Given the description of an element on the screen output the (x, y) to click on. 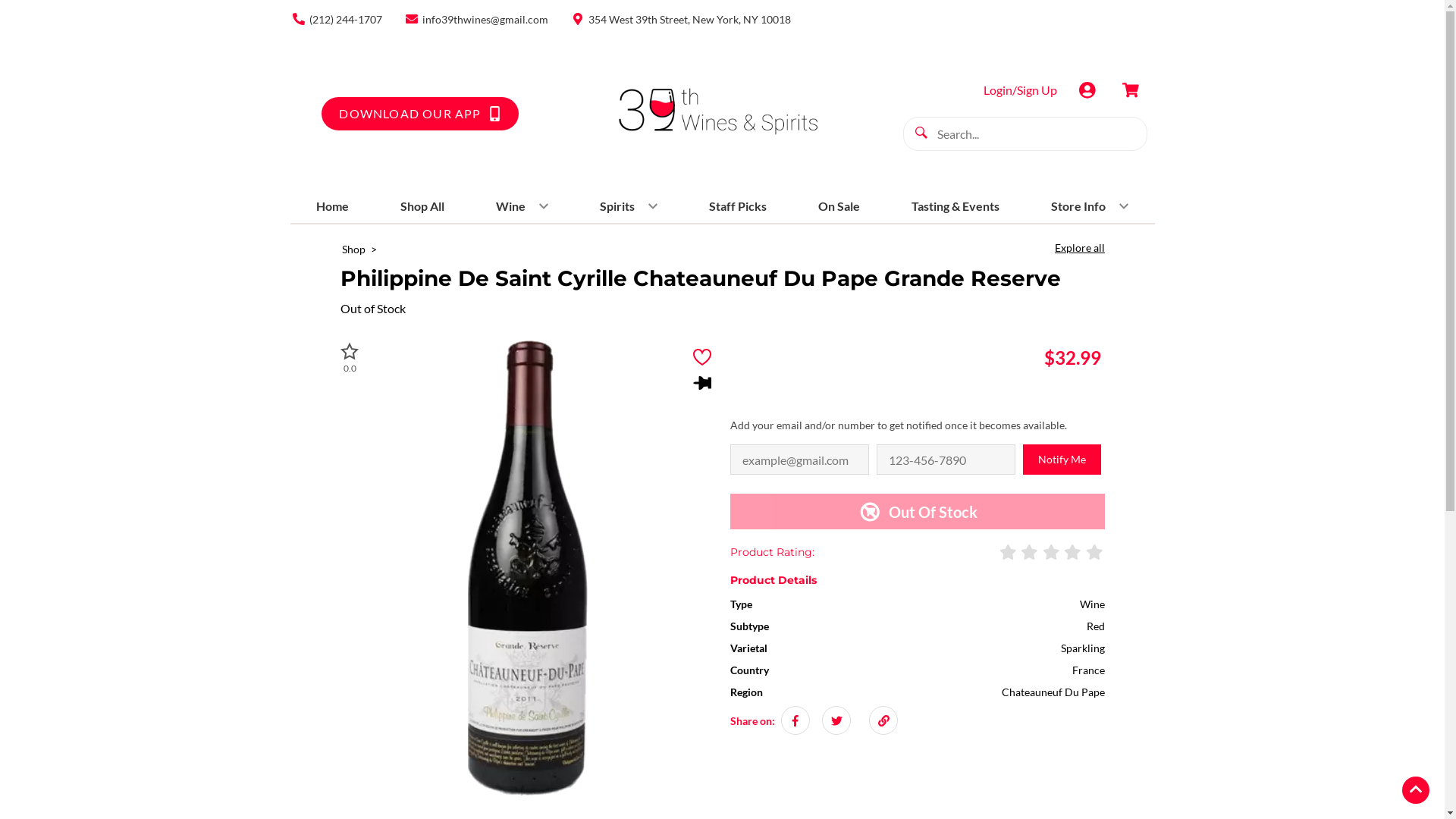
Map location 354 West 39th Street, New York, NY 10018 Element type: text (679, 18)
Staff Picks Element type: text (737, 205)
Wine Element type: text (1091, 603)
Sparkling Element type: text (1082, 647)
DOWNLOAD OUR APP
Mobile Element type: text (419, 113)
Chateauneuf Du Pape Element type: text (1052, 691)
Phone (212) 244-1707 Element type: text (335, 18)
Tasting & Events Element type: text (955, 205)
Email info39thwines@gmail.com Element type: text (475, 18)
On Sale Element type: text (839, 205)
Login/Sign Up Element type: text (1019, 89)
Red Element type: text (1094, 625)
  Out Of Stock Element type: text (916, 511)
Wine Element type: text (521, 205)
Shop All Element type: text (422, 205)
Notify Me Element type: text (1061, 459)
Store Info Element type: text (1089, 205)
Spirits Element type: text (628, 205)
Home Element type: text (332, 205)
France Element type: text (1088, 669)
Up Button Element type: text (1415, 789)
